Given the description of an element on the screen output the (x, y) to click on. 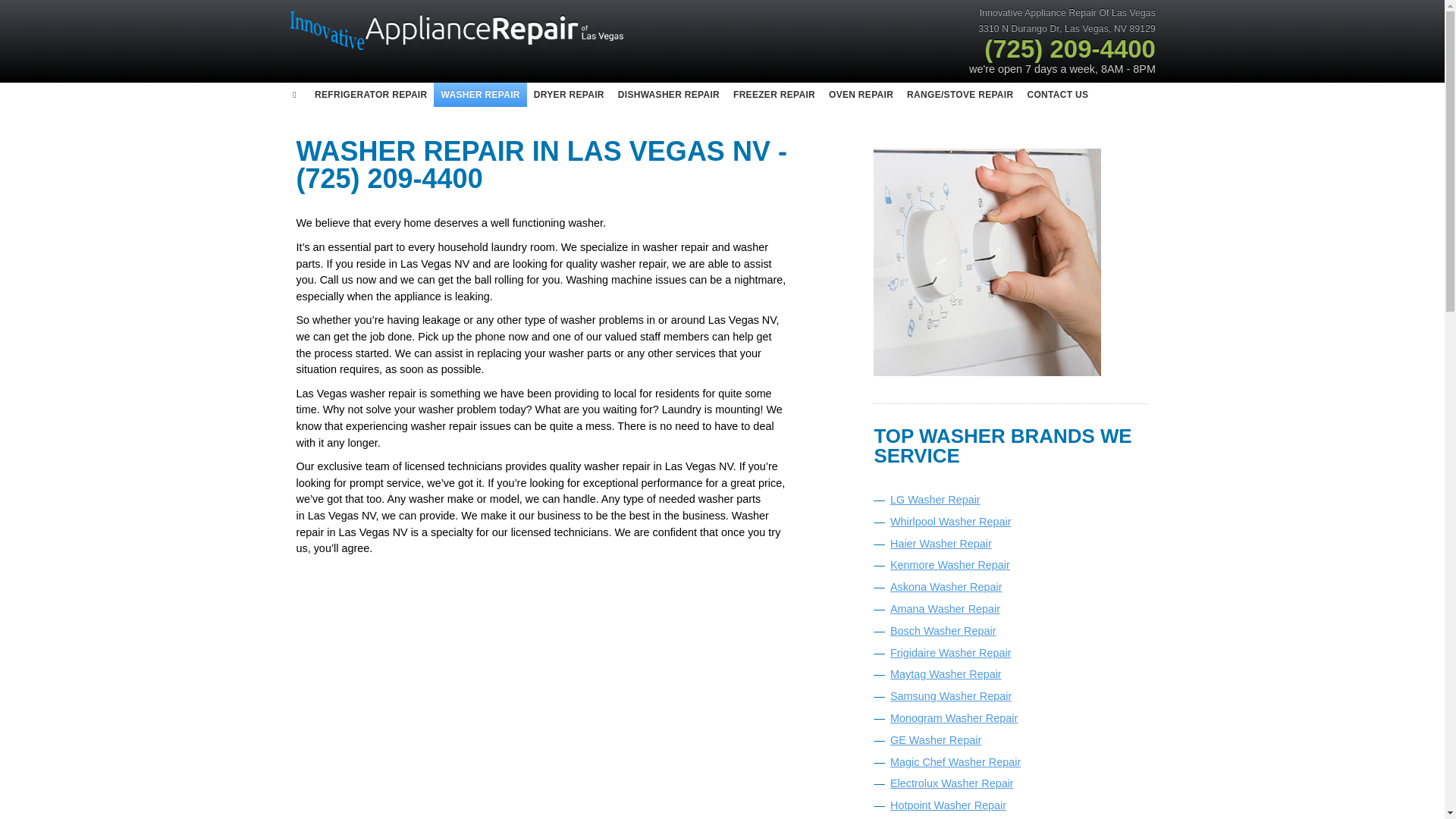
Homepage (459, 48)
REFRIGERATOR REPAIR (370, 94)
Kenmore Washer Repair (949, 564)
Innovative Appliance Repair of Las Vegas (459, 28)
Askona Washer Repair (945, 586)
OVEN REPAIR (860, 94)
Kenmore (949, 564)
Dryer repair in Las Vegas, NV (569, 94)
LG (934, 499)
DRYER REPAIR (569, 94)
